Given the description of an element on the screen output the (x, y) to click on. 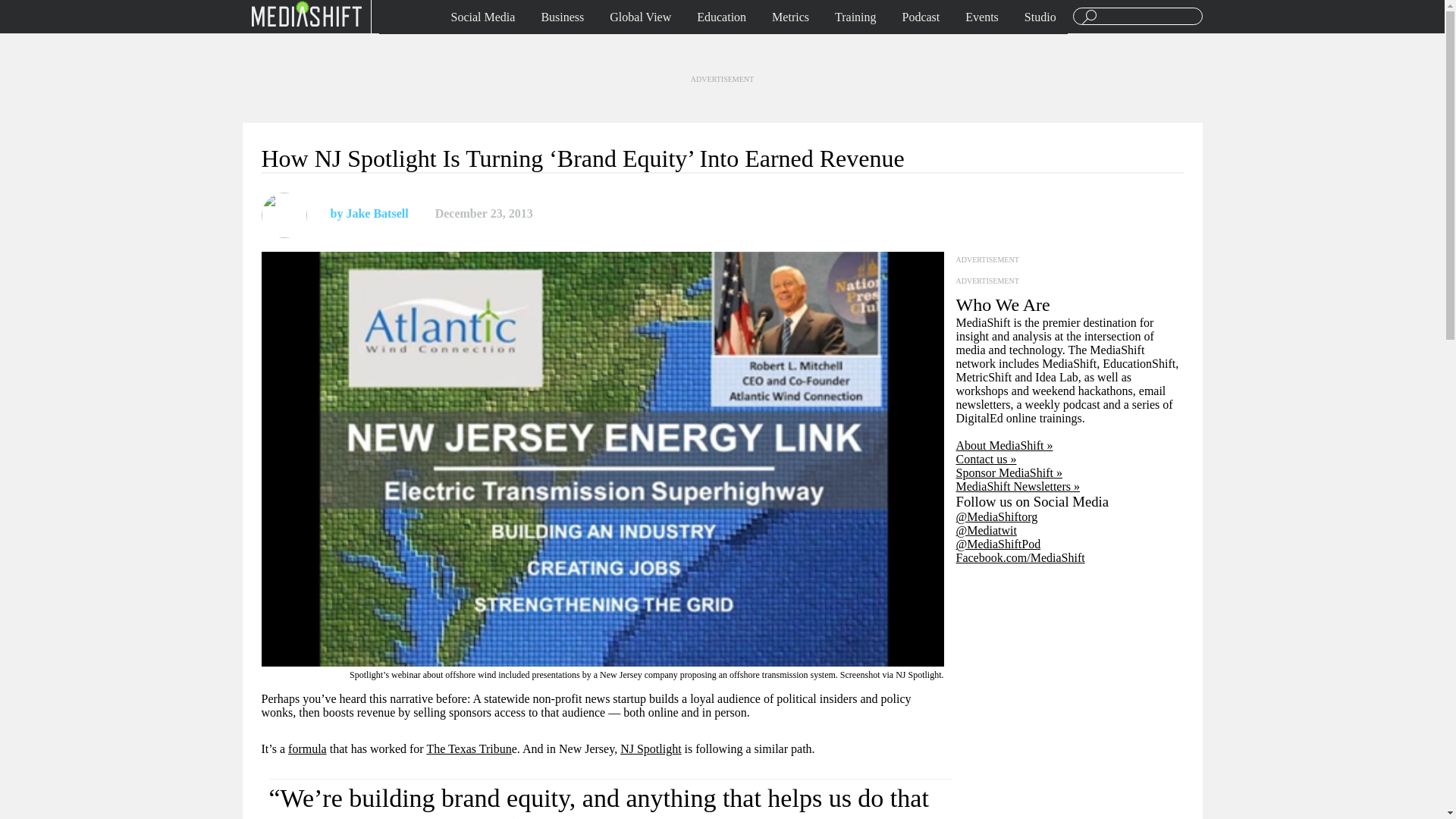
Global View (640, 17)
Events (981, 17)
Mediashift (305, 13)
Business (562, 17)
Training (856, 17)
Podcast (921, 17)
Social Media (483, 17)
Studio (1040, 17)
Metrics (790, 17)
Education (721, 17)
Share by Email (614, 213)
